Given the description of an element on the screen output the (x, y) to click on. 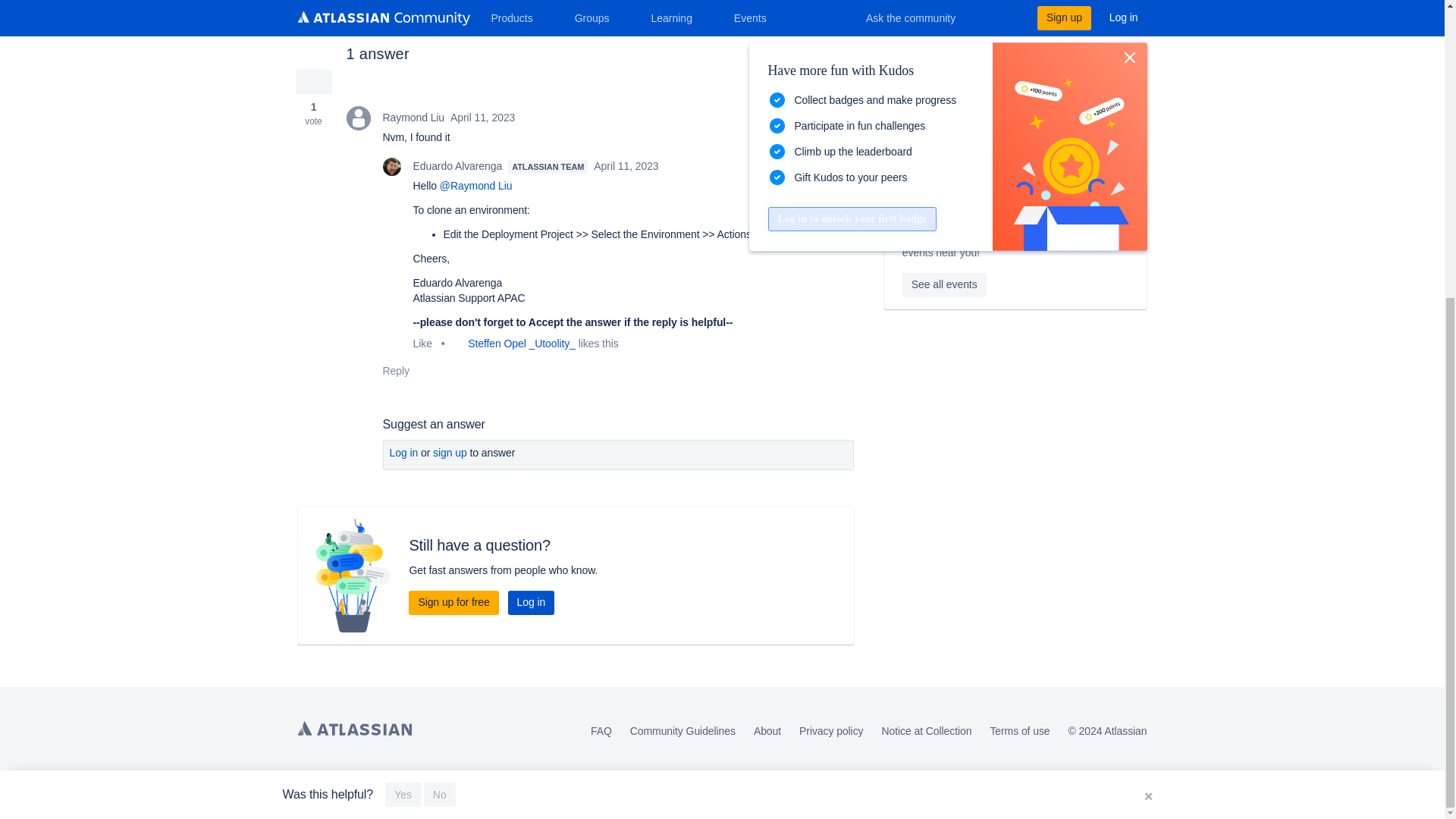
Raymond Liu (357, 118)
Eduardo Alvarenga (390, 167)
AUG Leaders (911, 209)
